Given the description of an element on the screen output the (x, y) to click on. 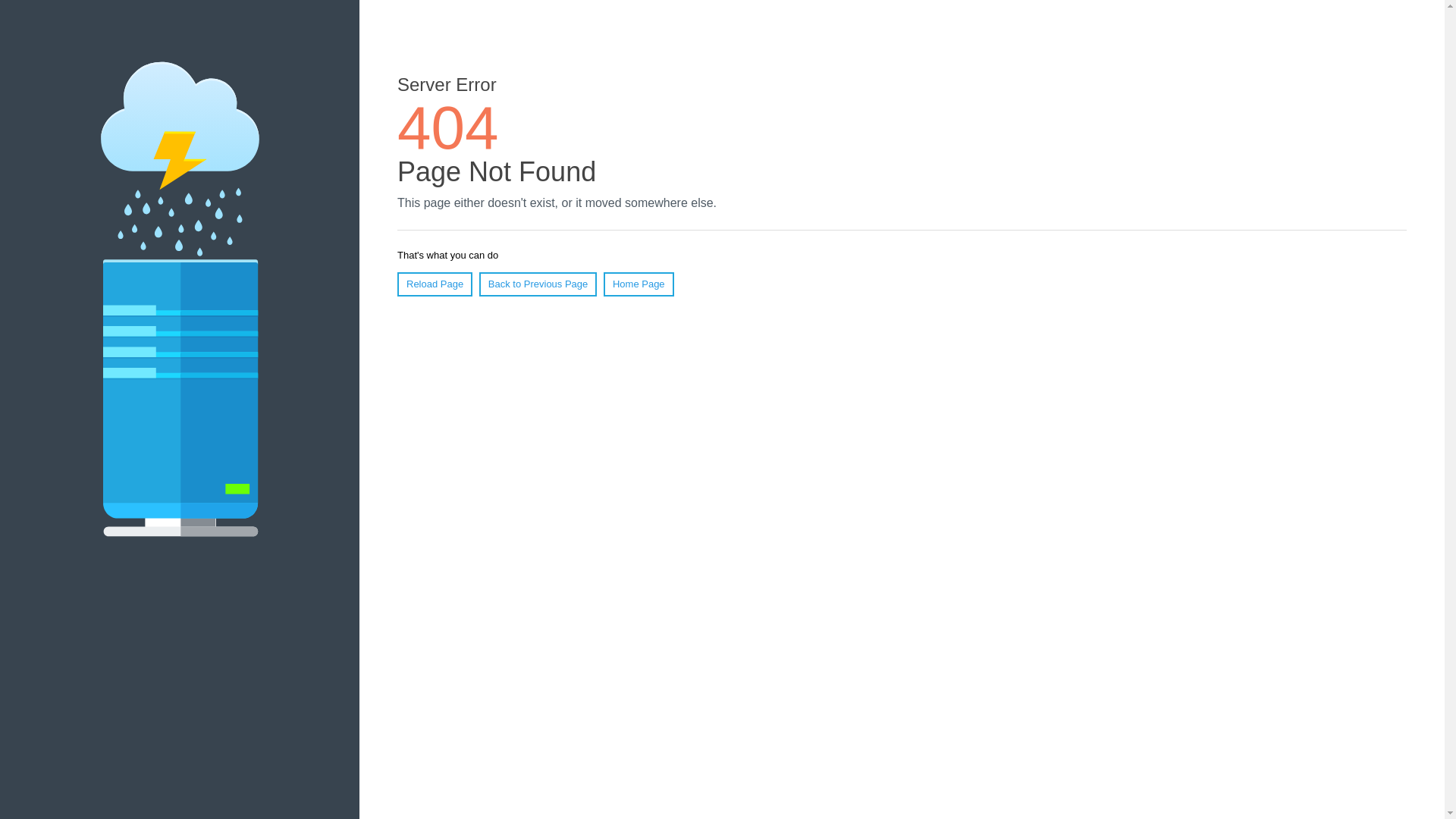
Back to Previous Page Element type: text (538, 284)
Reload Page Element type: text (434, 284)
Home Page Element type: text (638, 284)
